Given the description of an element on the screen output the (x, y) to click on. 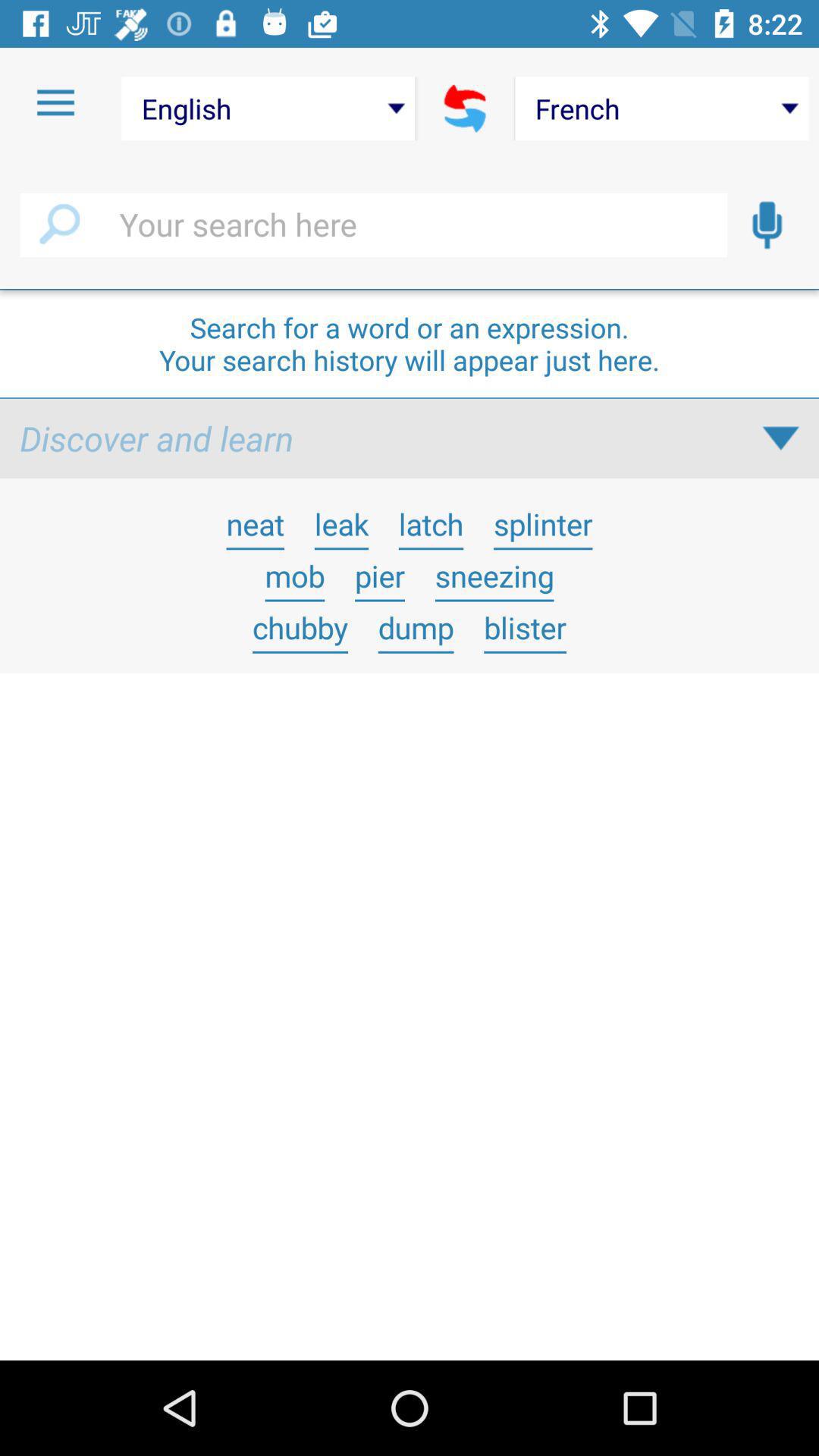
launch the icon above chubby icon (379, 575)
